Given the description of an element on the screen output the (x, y) to click on. 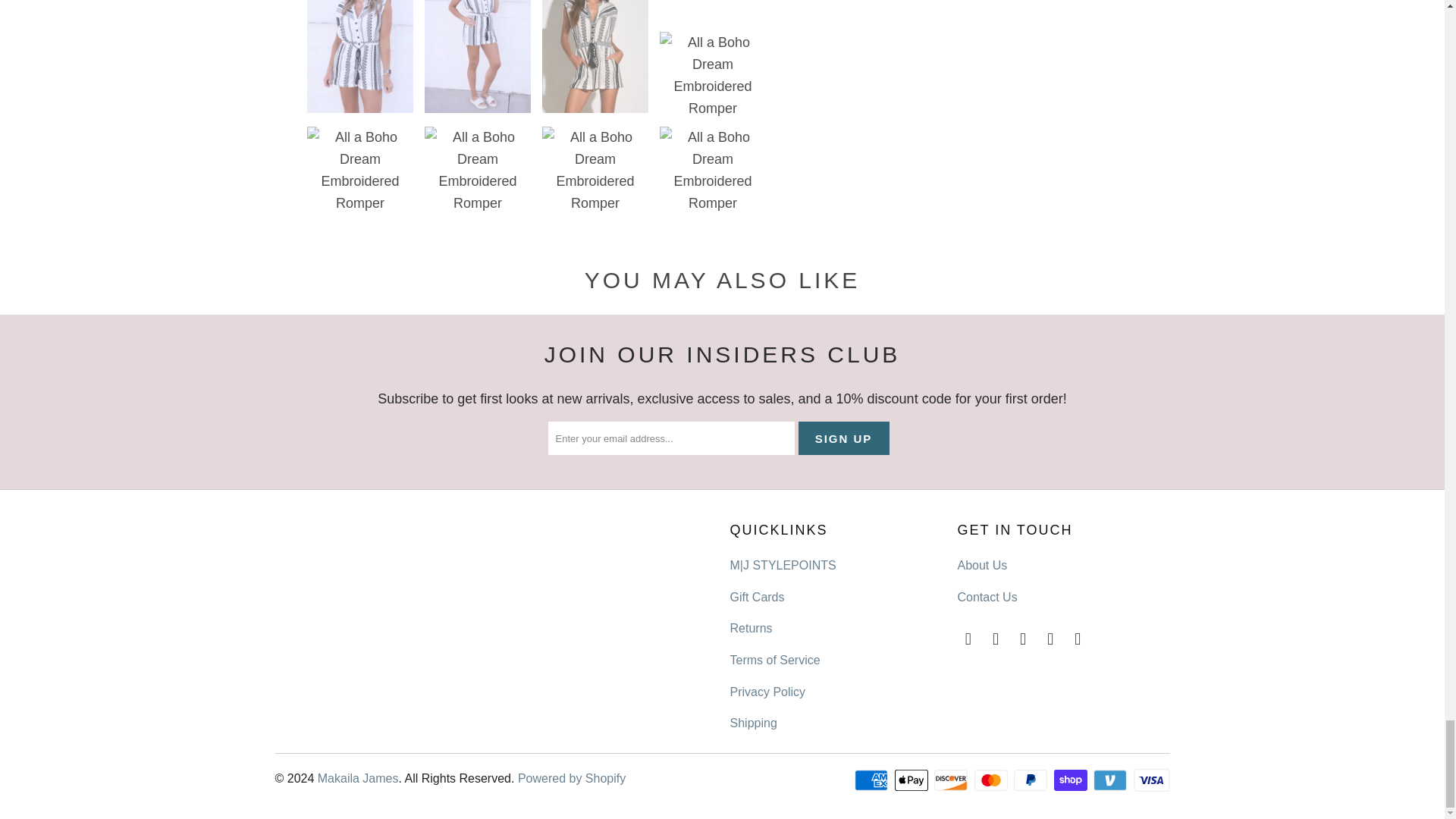
Apple Pay (913, 780)
Venmo (1111, 780)
PayPal (1031, 780)
Makaila James on TikTok (1078, 638)
Makaila James on Facebook (996, 638)
Email Makaila James (967, 638)
Discover (952, 780)
Makaila James on Pinterest (1050, 638)
Visa (1150, 780)
American Express (872, 780)
